Given the description of an element on the screen output the (x, y) to click on. 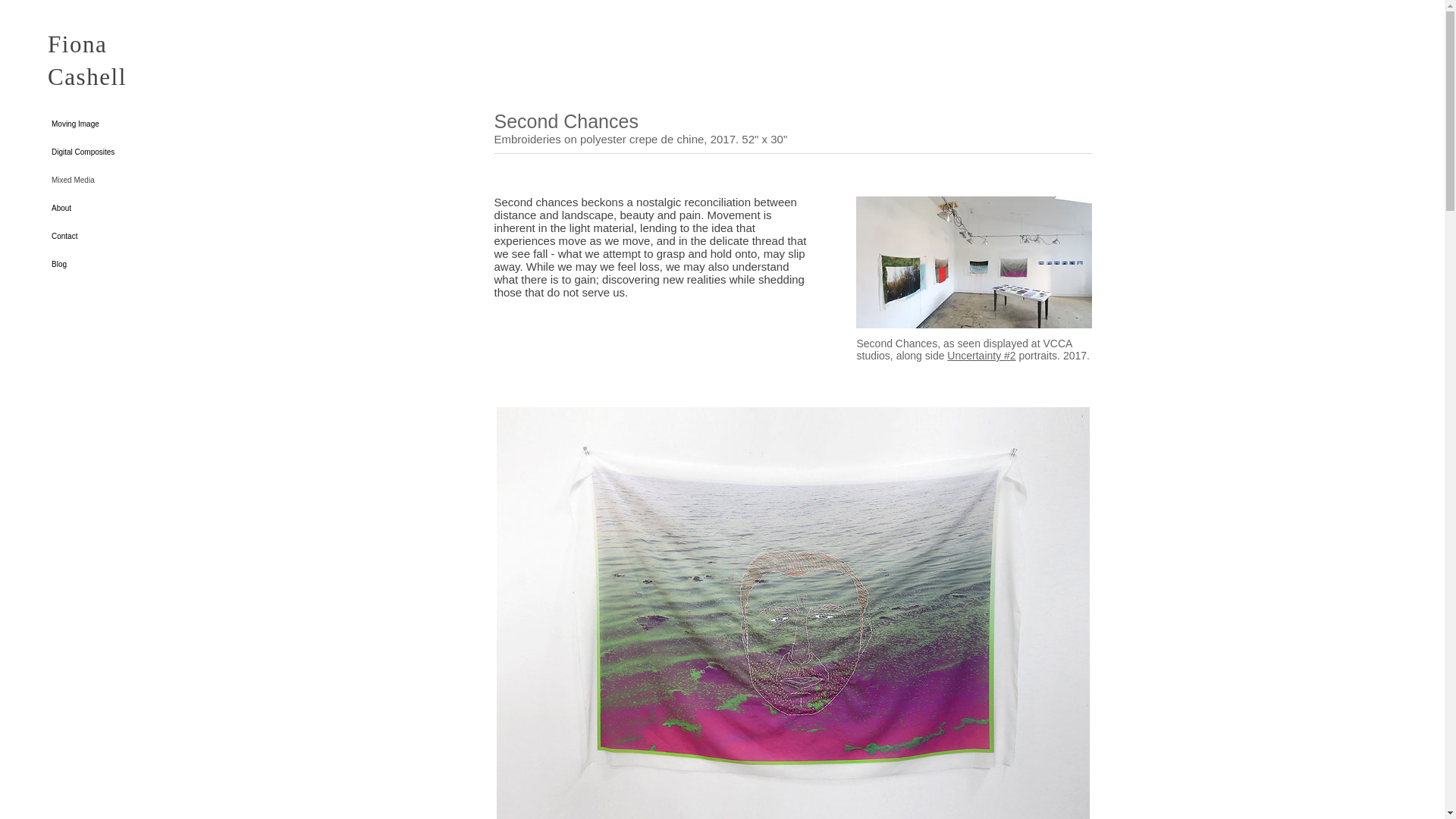
Cashell (87, 76)
Fiona (77, 44)
Blog (115, 264)
About (115, 207)
Contact (115, 235)
